Given the description of an element on the screen output the (x, y) to click on. 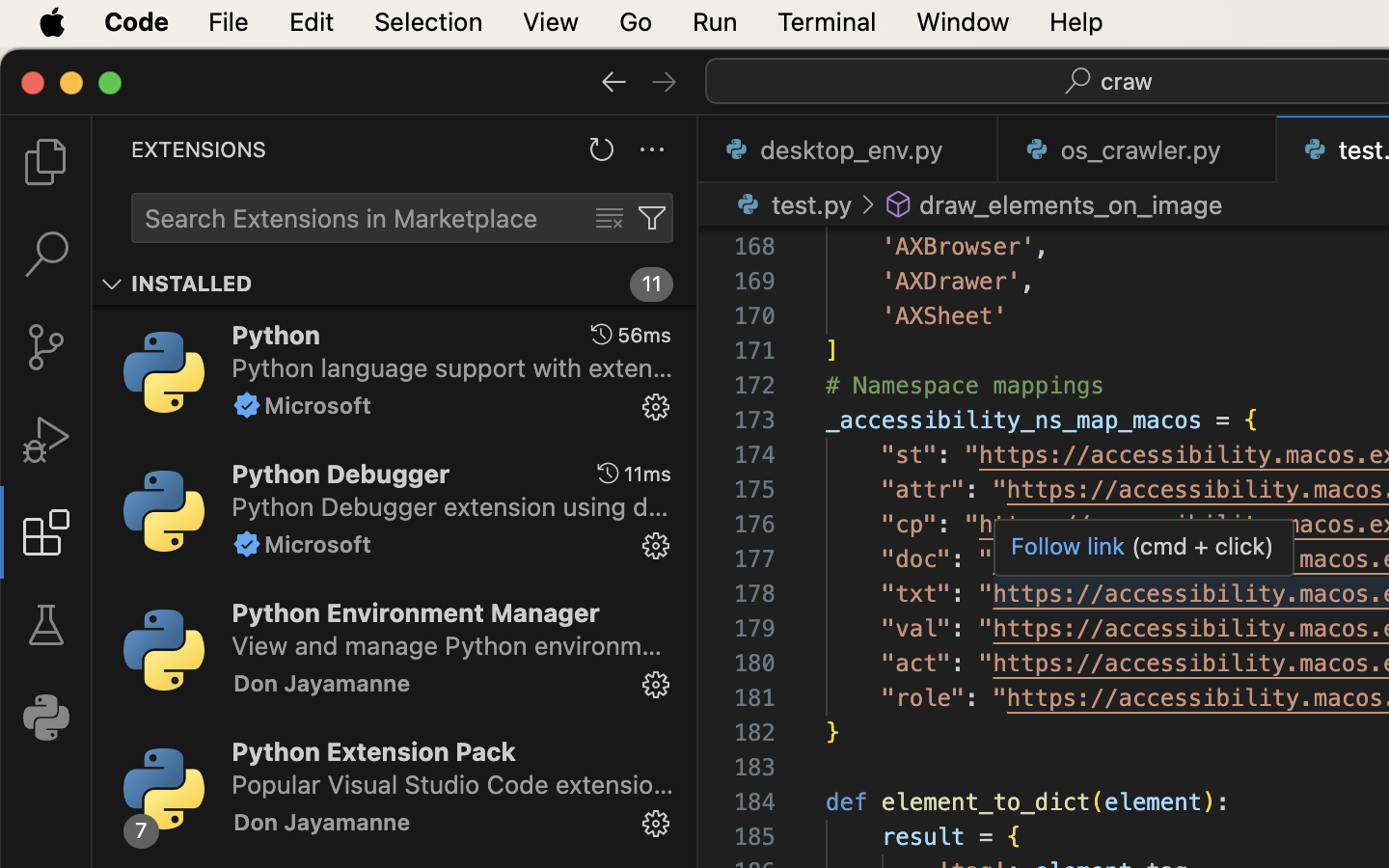
Python Environment Manager Element type: AXStaticText (415, 611)
EXTENSIONS Element type: AXStaticText (198, 149)
 Element type: AXStaticText (867, 204)
 Element type: AXGroup (46, 439)
Popular Visual Studio Code extensions for Python Element type: AXStaticText (453, 783)
